Given the description of an element on the screen output the (x, y) to click on. 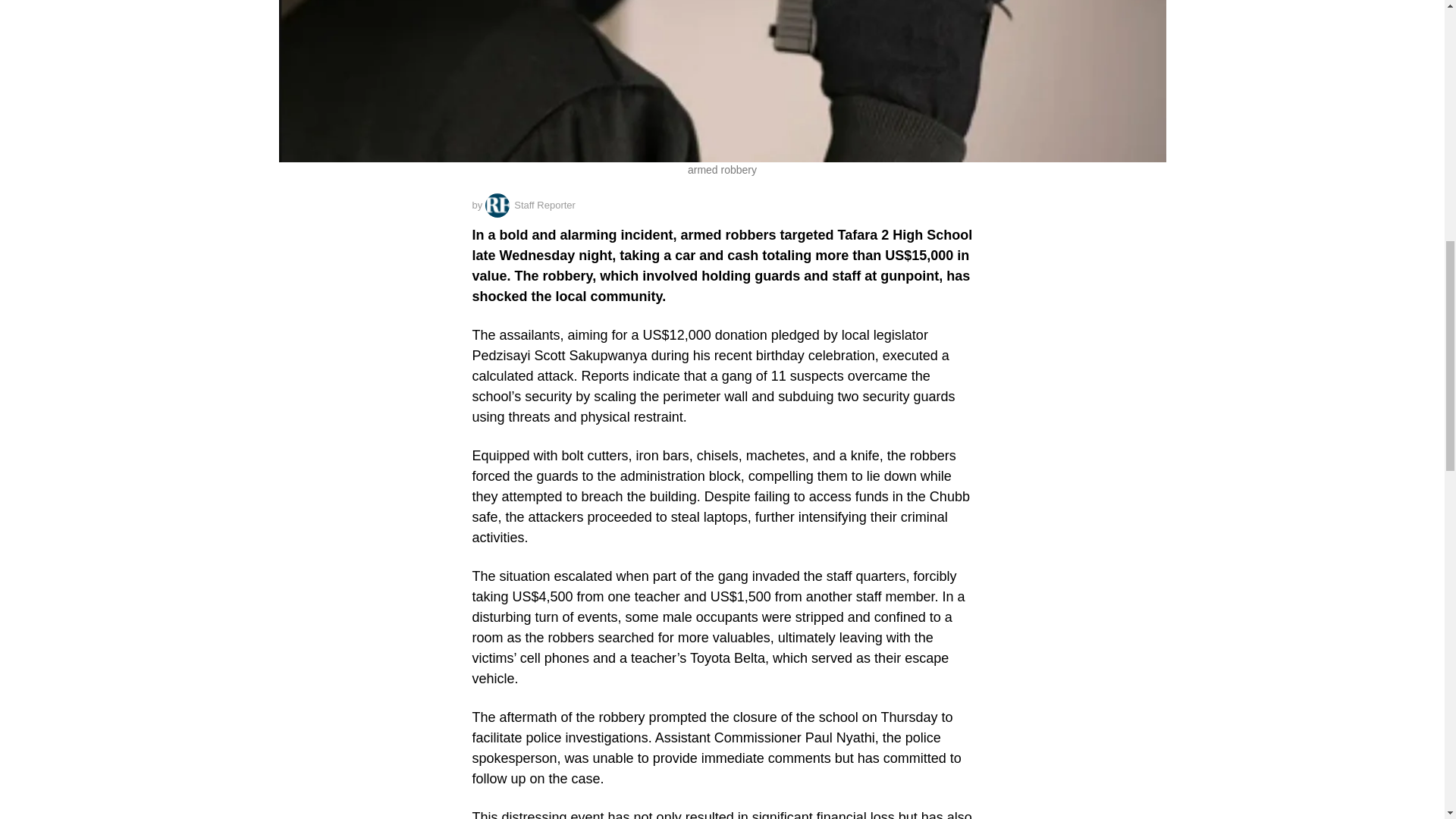
Staff Reporter (529, 205)
